Given the description of an element on the screen output the (x, y) to click on. 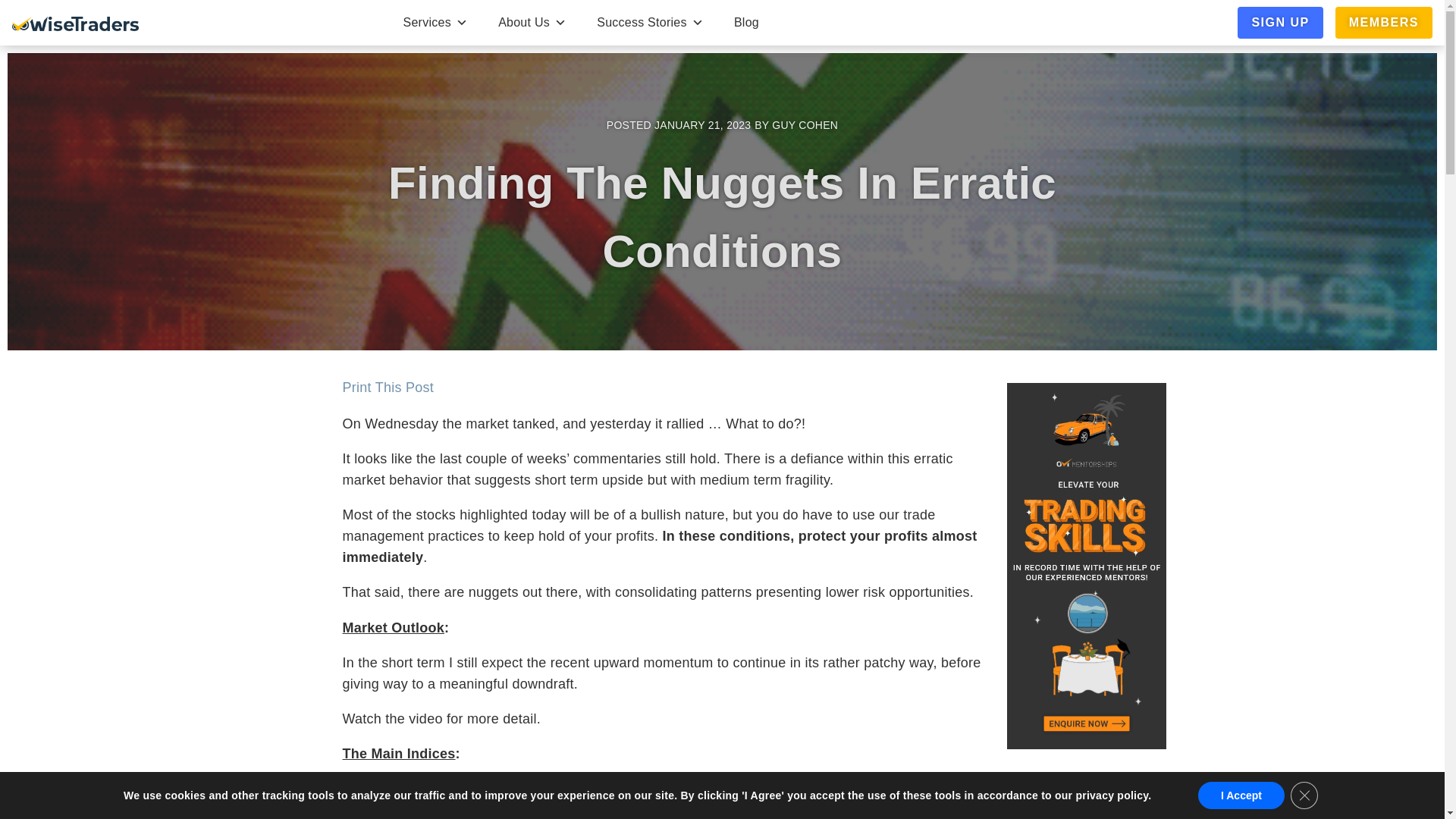
About Us (531, 22)
MEMBERS (1383, 22)
Services (435, 22)
Print This Post (387, 387)
Success Stories (649, 22)
SIGN UP (1279, 22)
Blog (746, 22)
